Given the description of an element on the screen output the (x, y) to click on. 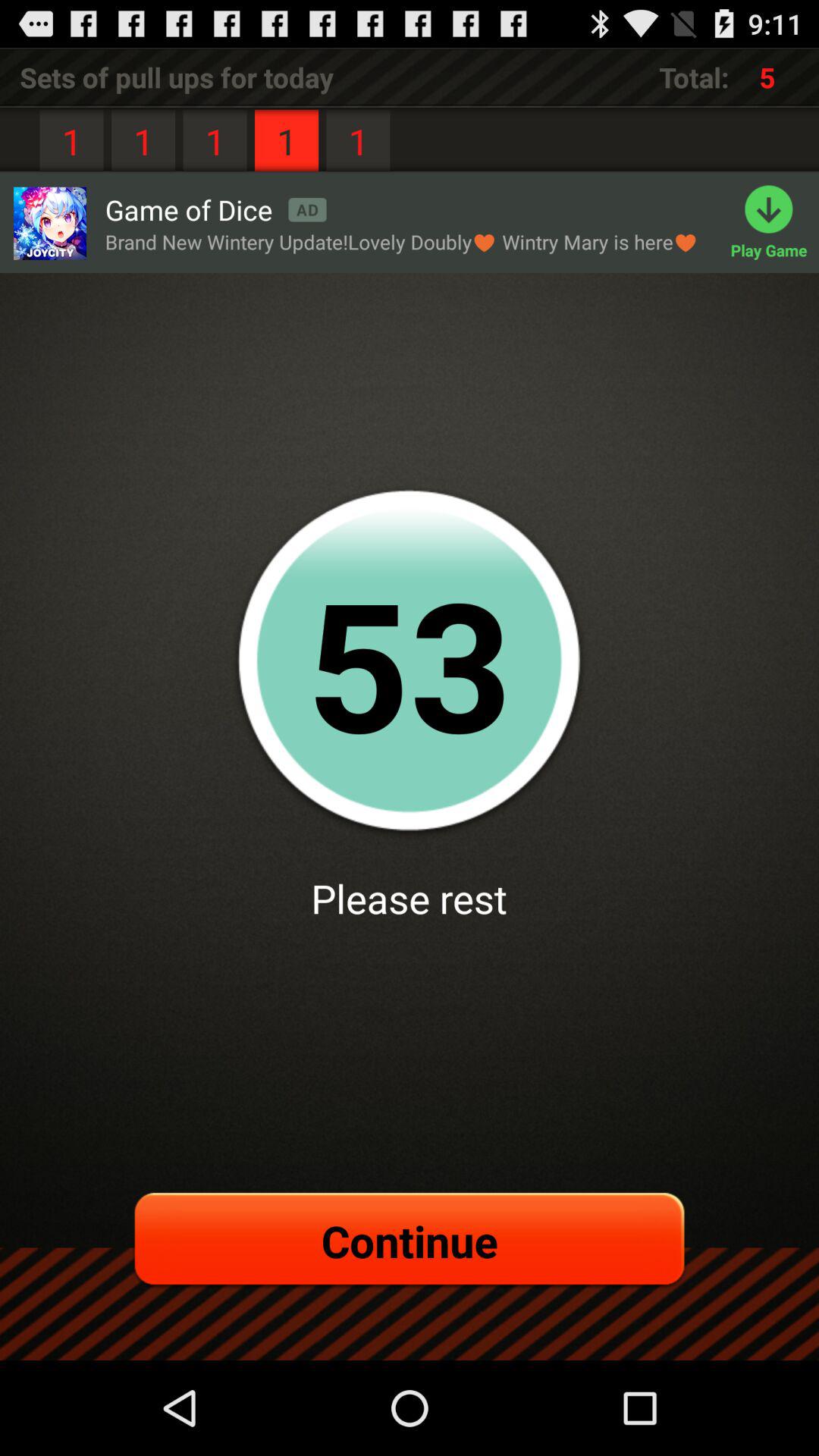
turn on the brand new wintery item (401, 241)
